Given the description of an element on the screen output the (x, y) to click on. 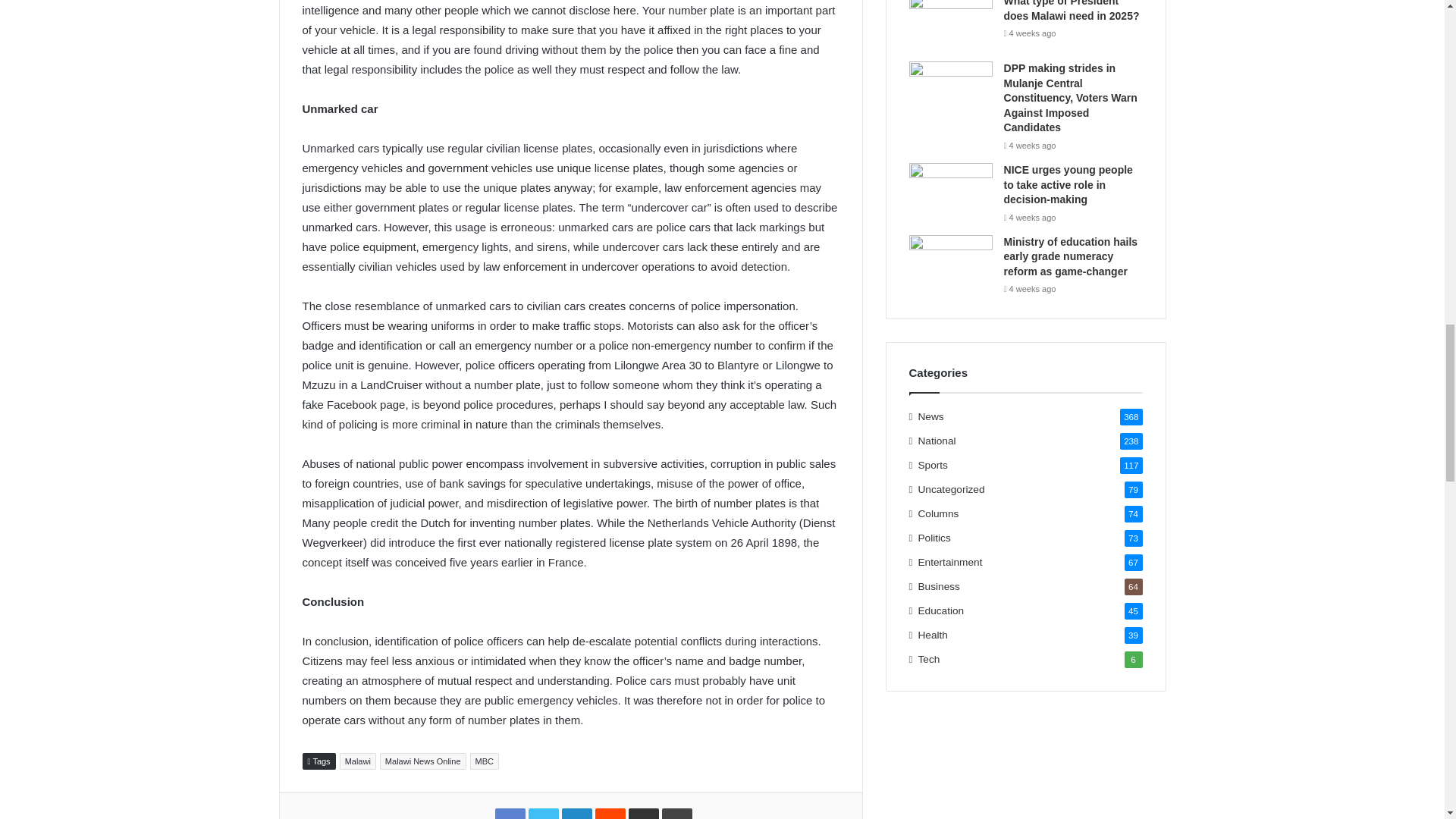
Malawi News Online (422, 760)
MBC (484, 760)
Malawi (357, 760)
